Given the description of an element on the screen output the (x, y) to click on. 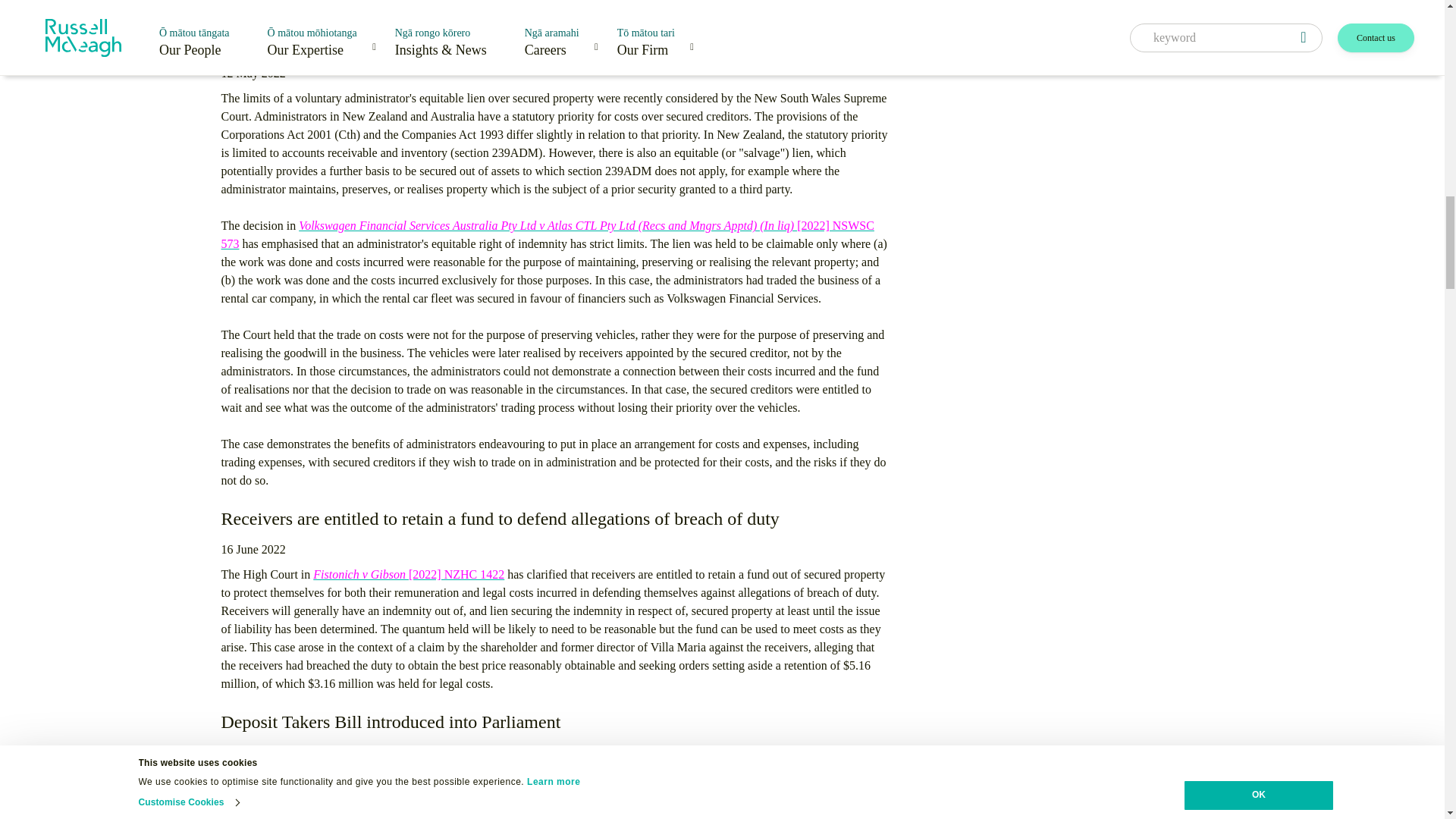
Fistonich V Gibson (408, 574)
Grant V Arenaalceon NZ Credit Partners LLC (692, 5)
